Given the description of an element on the screen output the (x, y) to click on. 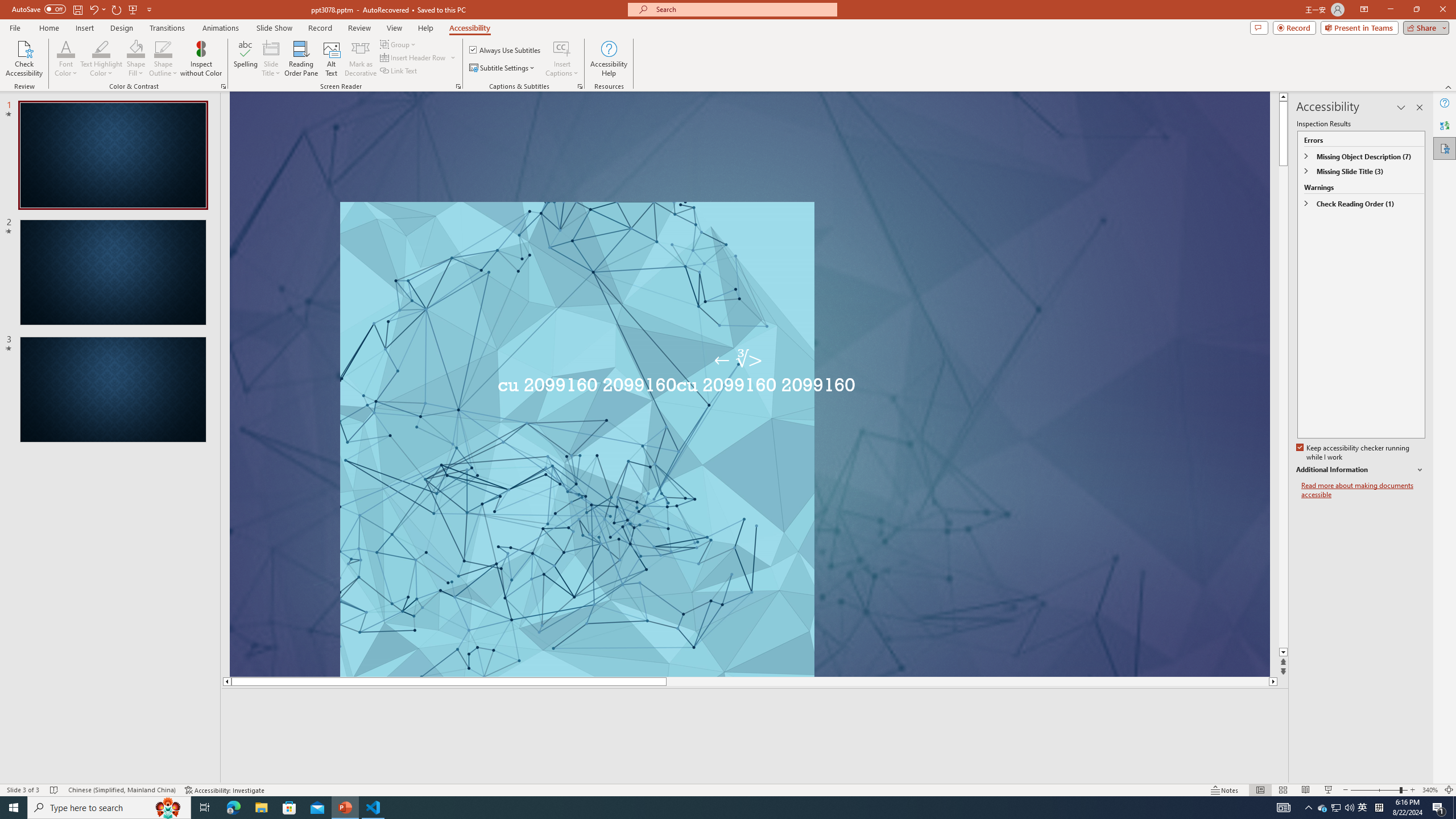
Group (398, 44)
Accessibility Help (608, 58)
Shape Outline (163, 48)
Reading Order Pane (301, 58)
Title TextBox (922, 509)
